Given the description of an element on the screen output the (x, y) to click on. 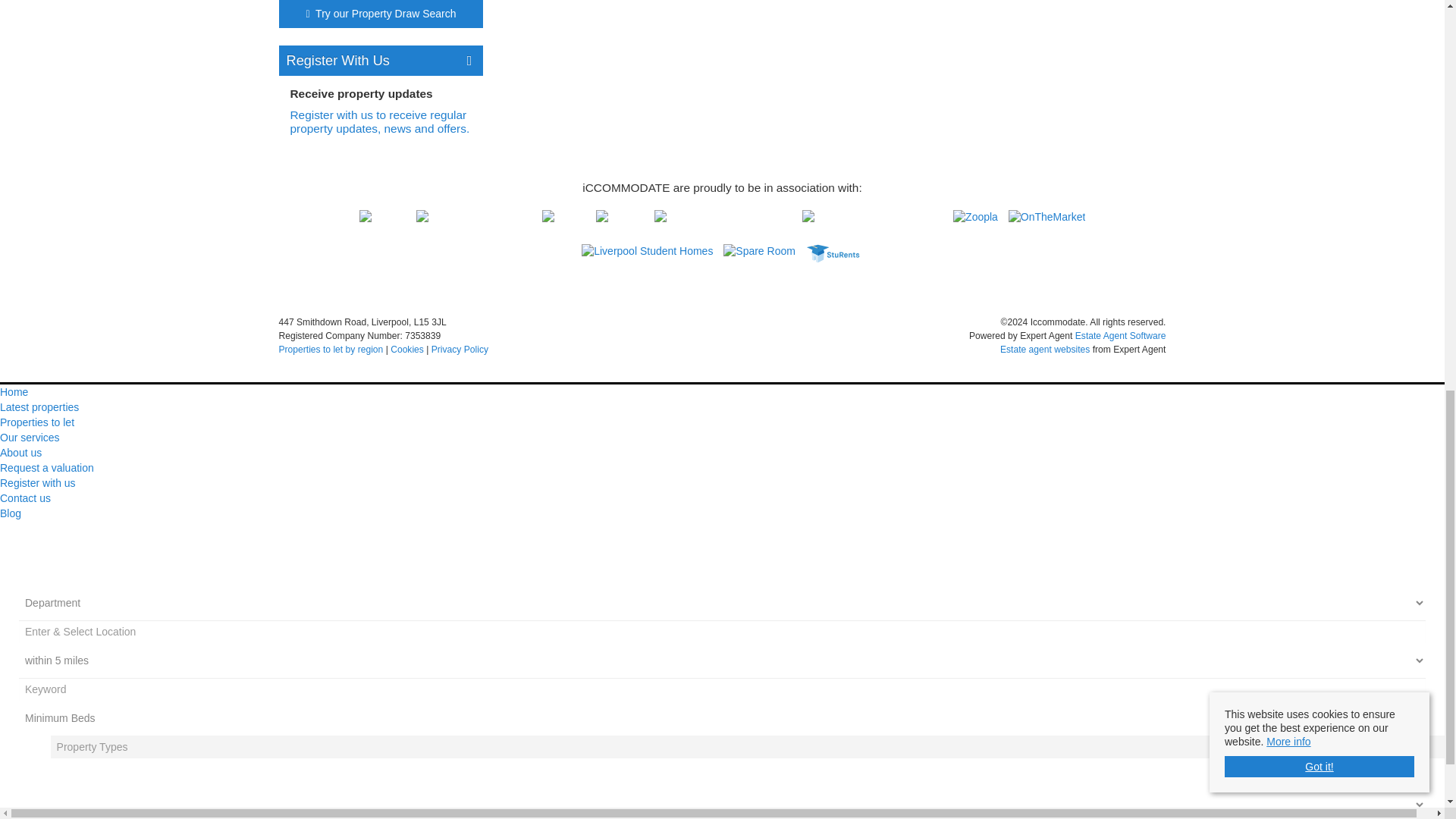
  Try our Property Draw Search (381, 15)
Cookies (406, 348)
Estate Agent Software (1120, 335)
Privacy Policy (458, 348)
Properties to let by region (331, 348)
Estate agent websites (1044, 348)
